Given the description of an element on the screen output the (x, y) to click on. 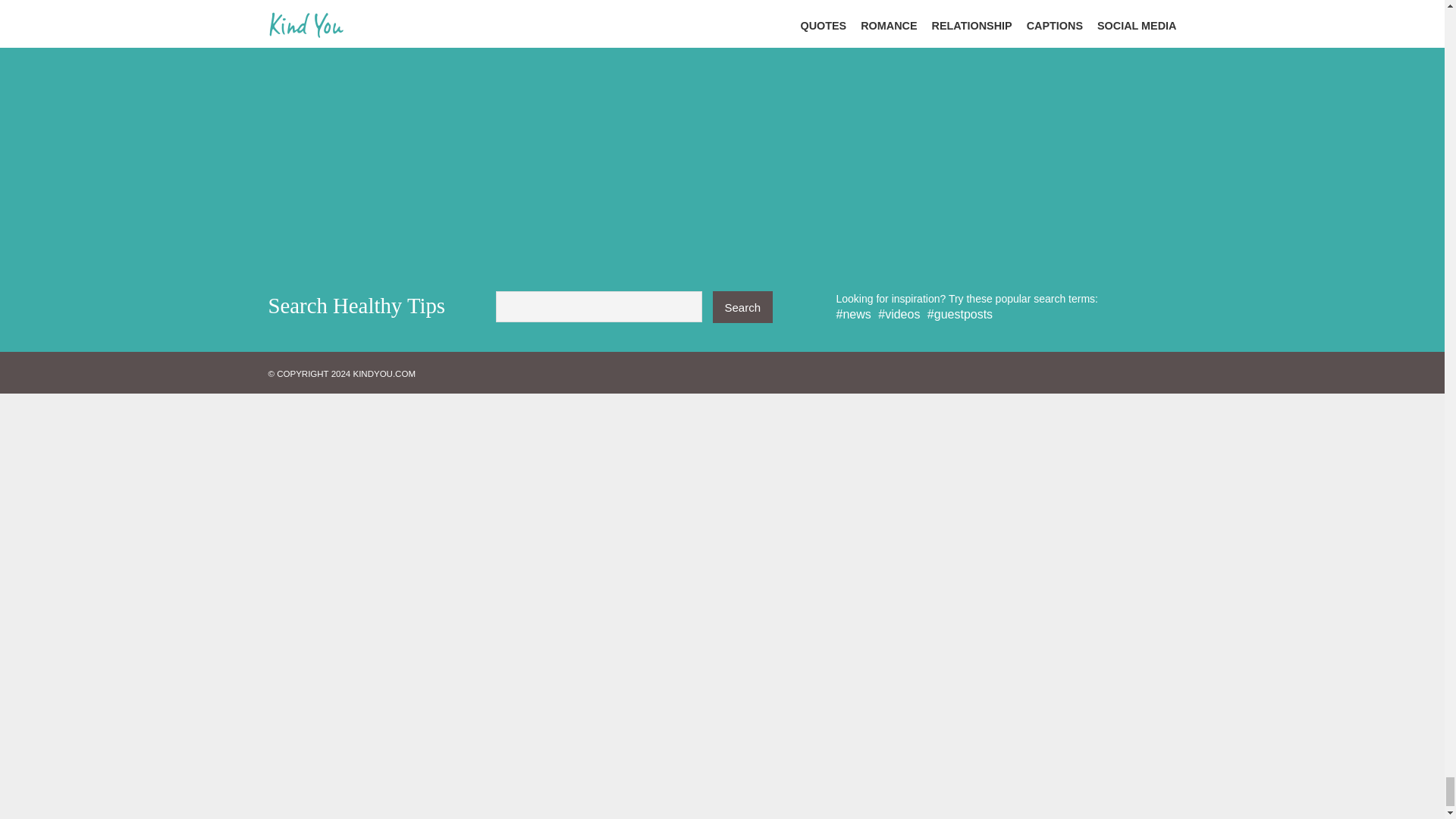
Search (743, 306)
news (852, 314)
logged in (392, 182)
videos (898, 314)
guestposts (959, 314)
Search (743, 306)
